Given the description of an element on the screen output the (x, y) to click on. 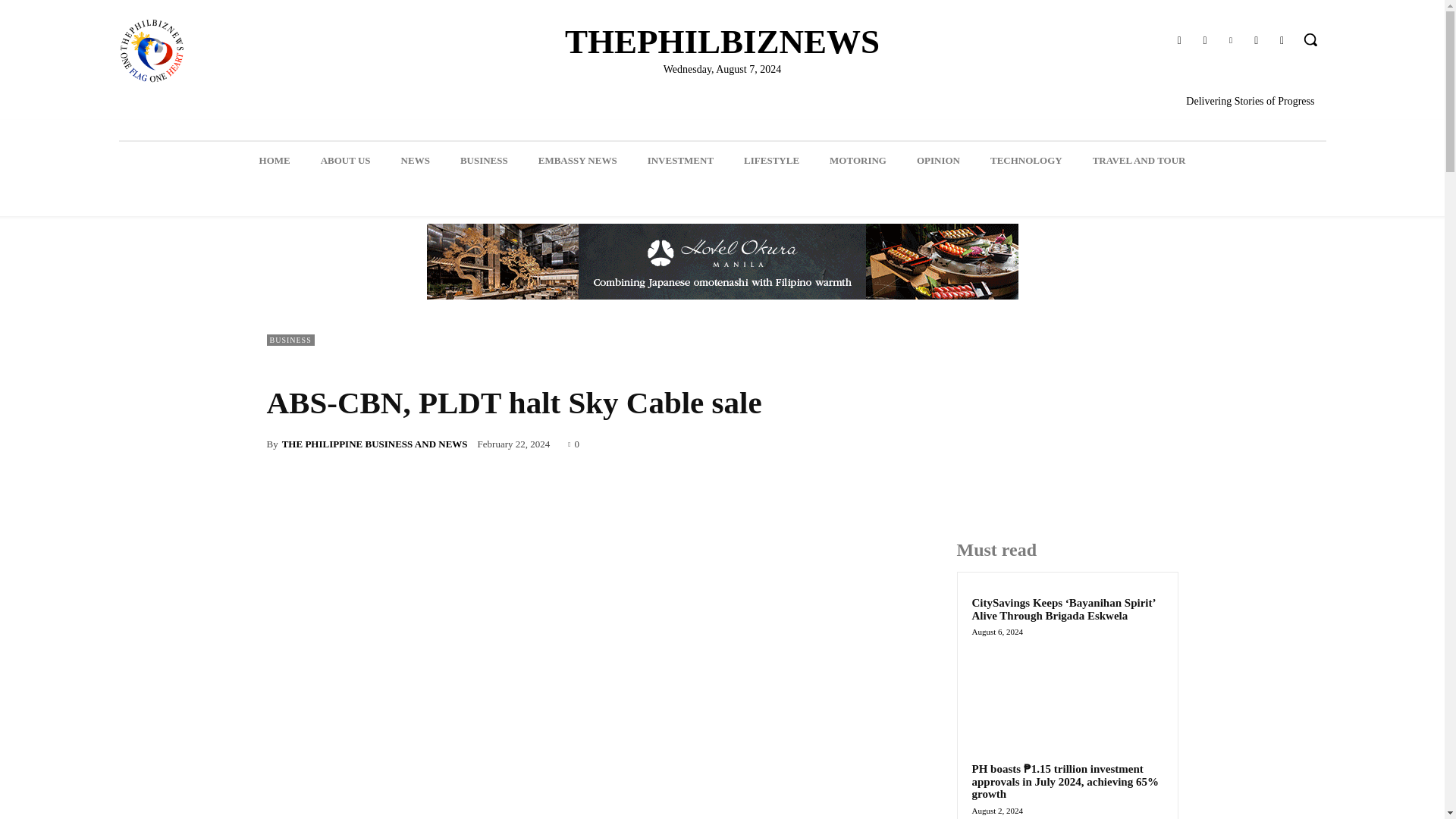
LIFESTYLE (771, 160)
TRAVEL AND TOUR (1139, 160)
Facebook (1179, 40)
BUSINESS (483, 160)
Instagram (1204, 40)
TECHNOLOGY (1026, 160)
Linkedin (1230, 40)
EMBASSY NEWS (576, 160)
NEWS (415, 160)
ABOUT US (345, 160)
OPINION (938, 160)
INVESTMENT (680, 160)
Youtube (1281, 40)
MOTORING (857, 160)
THEPHILBIZNEWS (721, 42)
